Given the description of an element on the screen output the (x, y) to click on. 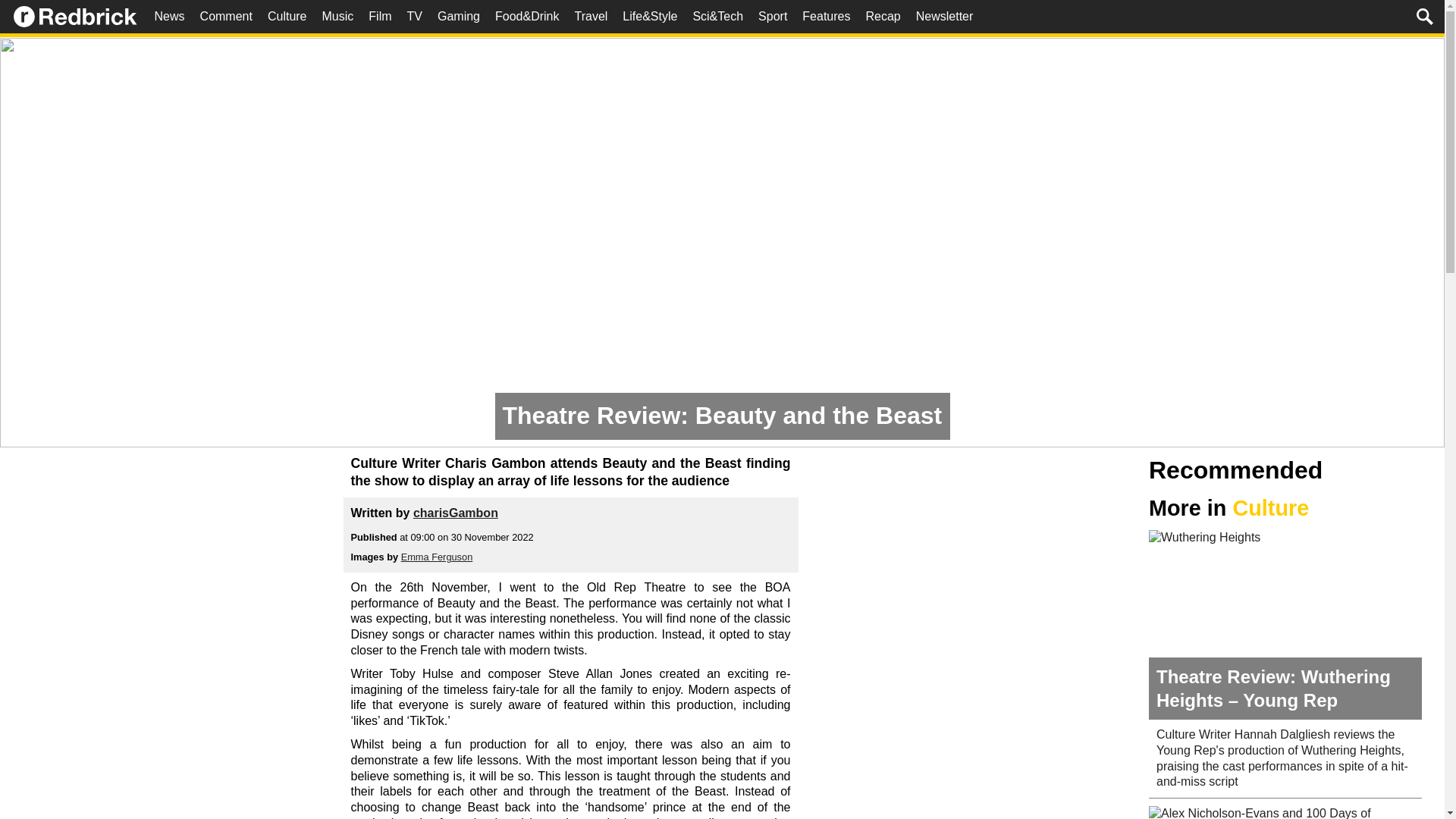
Music (337, 16)
Sport (772, 16)
Culture (287, 16)
News (169, 16)
Comment (226, 16)
Film (379, 16)
TV (413, 16)
Recap (882, 16)
charisGambon (455, 512)
Features (825, 16)
Newsletter (944, 16)
Gaming (458, 16)
Travel (590, 16)
